Given the description of an element on the screen output the (x, y) to click on. 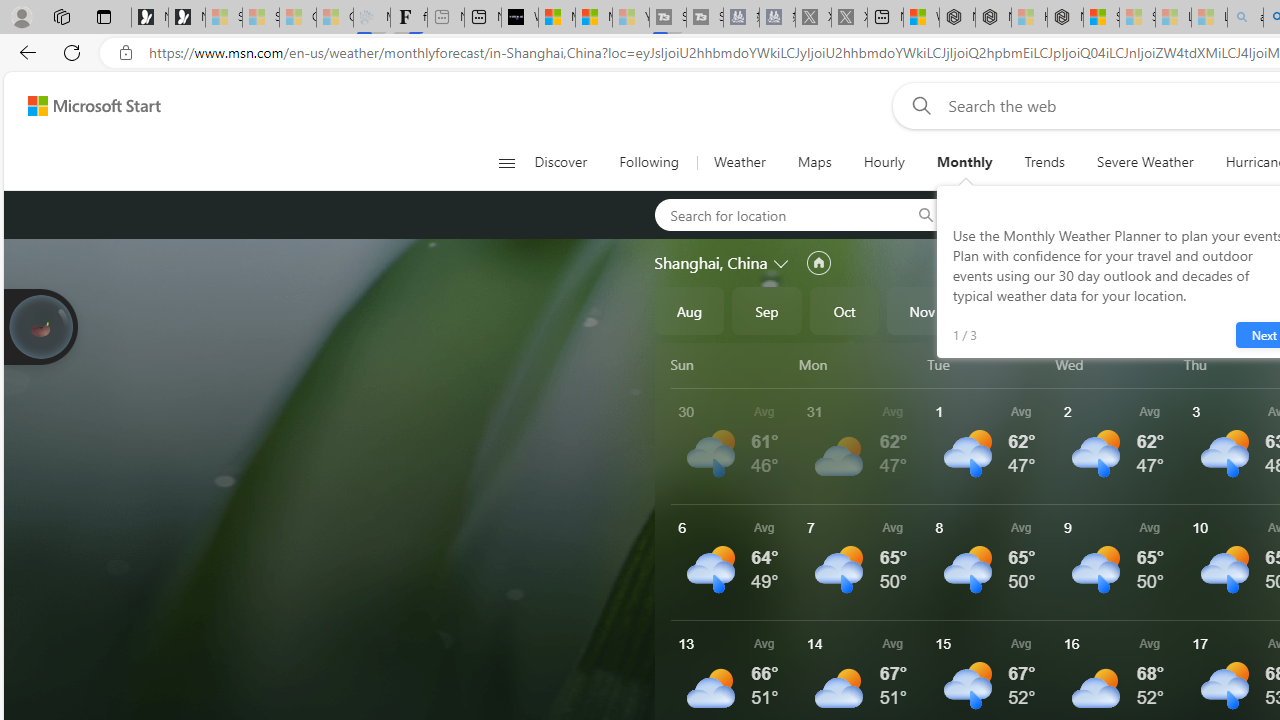
Search for location (776, 214)
Sep (767, 310)
Wildlife - MSN (921, 17)
See More Details (1120, 561)
Microsoft Start Sports (556, 17)
Join us in planting real trees to help our planet! (40, 327)
Maps (814, 162)
Mar (1233, 310)
